Given the description of an element on the screen output the (x, y) to click on. 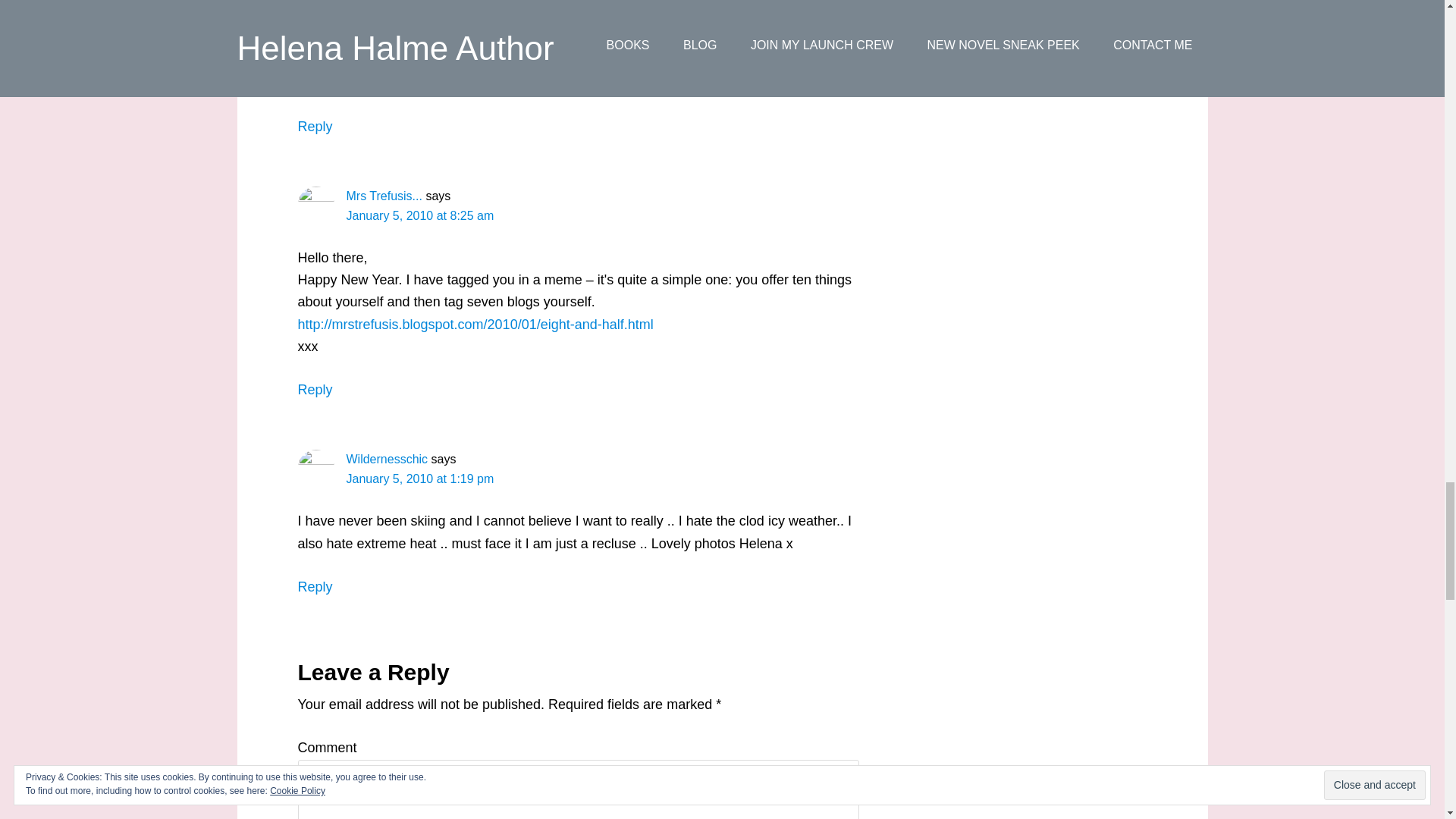
Wildernesschic (387, 459)
January 5, 2010 at 8:25 am (419, 215)
Mrs Trefusis... (384, 195)
Reply (314, 389)
Looking Fab in your forties (417, 20)
Reply (314, 126)
January 5, 2010 at 1:19 pm (419, 478)
January 4, 2010 at 6:39 pm (419, 40)
Reply (314, 586)
